Given the description of an element on the screen output the (x, y) to click on. 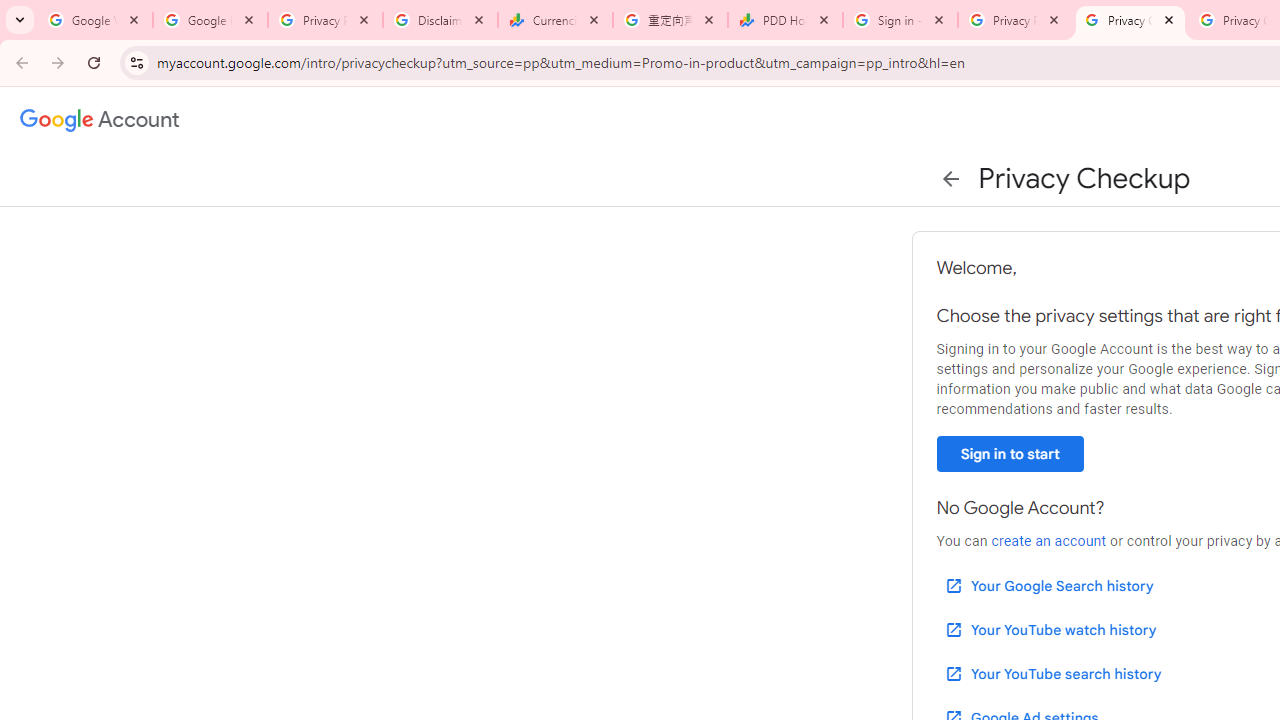
Sign in - Google Accounts (900, 20)
Your YouTube watch history (1049, 630)
create an account (1048, 541)
Your Google Search history (1048, 586)
Google Workspace Admin Community (95, 20)
PDD Holdings Inc - ADR (PDD) Price & News - Google Finance (785, 20)
Privacy Checkup (1129, 20)
Your YouTube search history (1052, 673)
Currencies - Google Finance (555, 20)
